Given the description of an element on the screen output the (x, y) to click on. 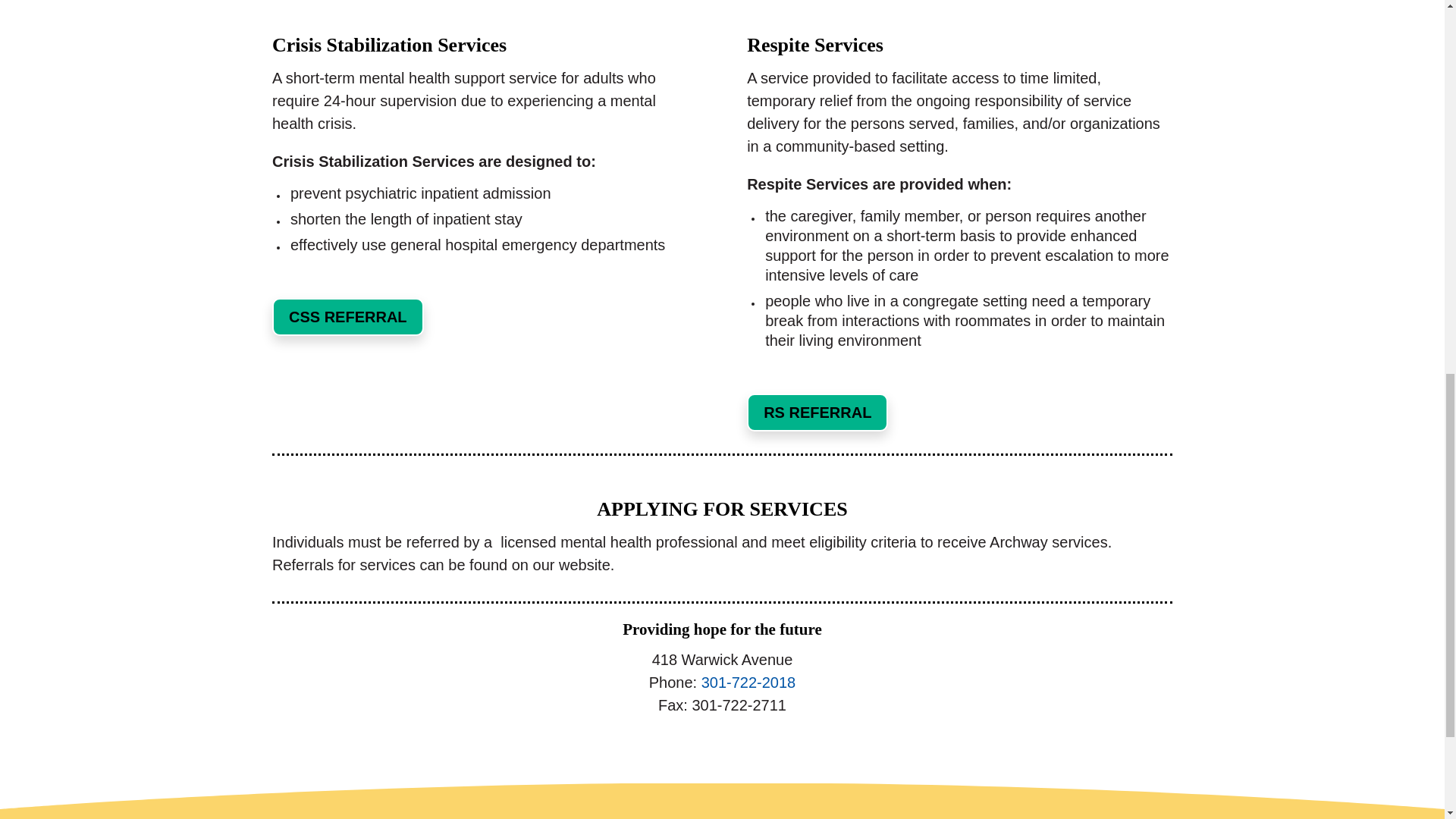
RS REFERRAL (817, 412)
CSS REFERRAL (347, 316)
301-722-2018 (748, 682)
